Given the description of an element on the screen output the (x, y) to click on. 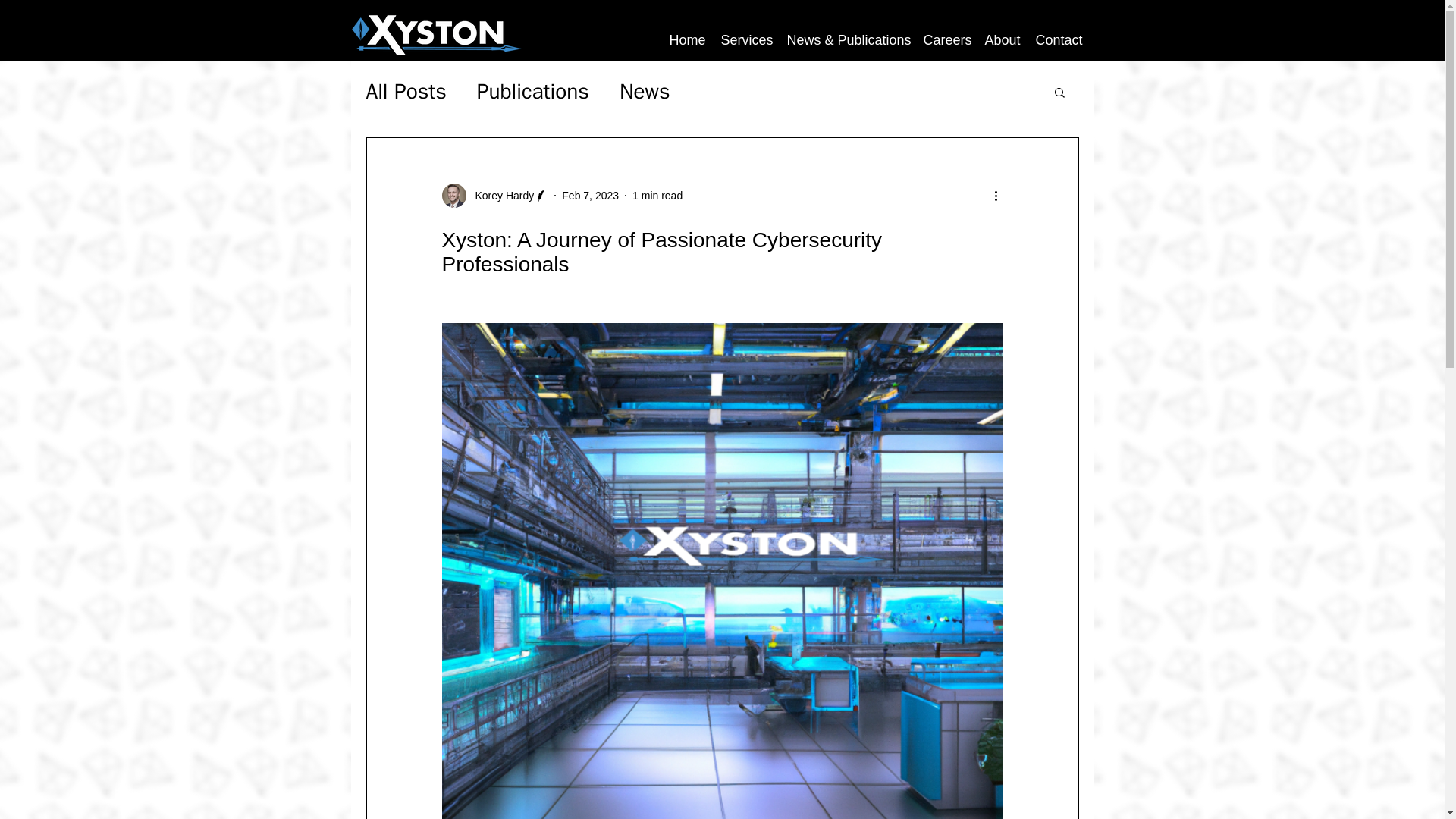
Feb 7, 2023 (590, 195)
Home (687, 39)
About (1001, 39)
1 min read (656, 195)
Publications (533, 91)
News (644, 91)
All Posts (405, 91)
Services (745, 39)
Korey Hardy (499, 195)
Contact (1058, 39)
Careers (945, 39)
